Given the description of an element on the screen output the (x, y) to click on. 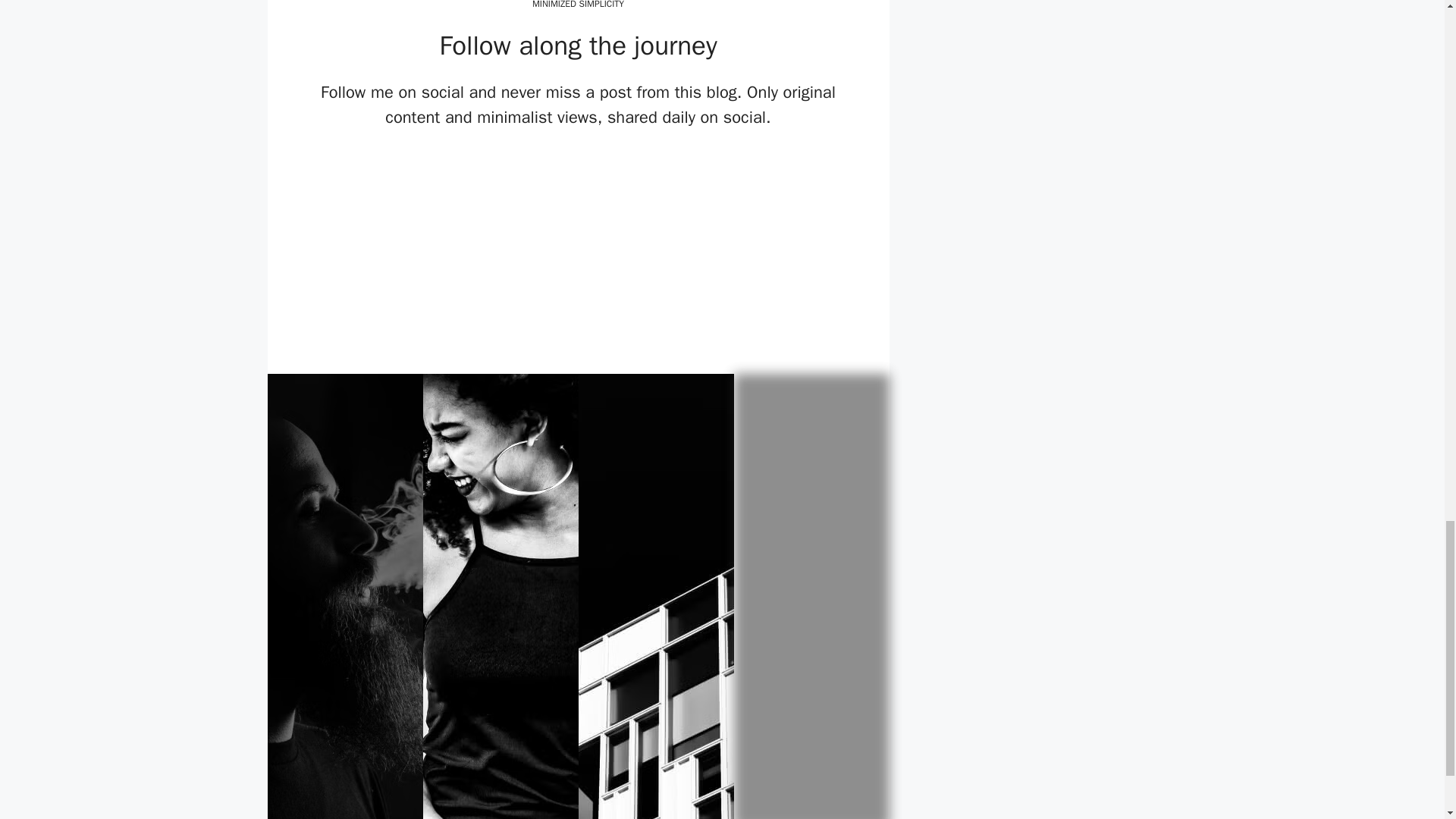
LinkedIn (605, 205)
Facebook (496, 205)
Twitter (551, 205)
Pinterest (660, 205)
